Given the description of an element on the screen output the (x, y) to click on. 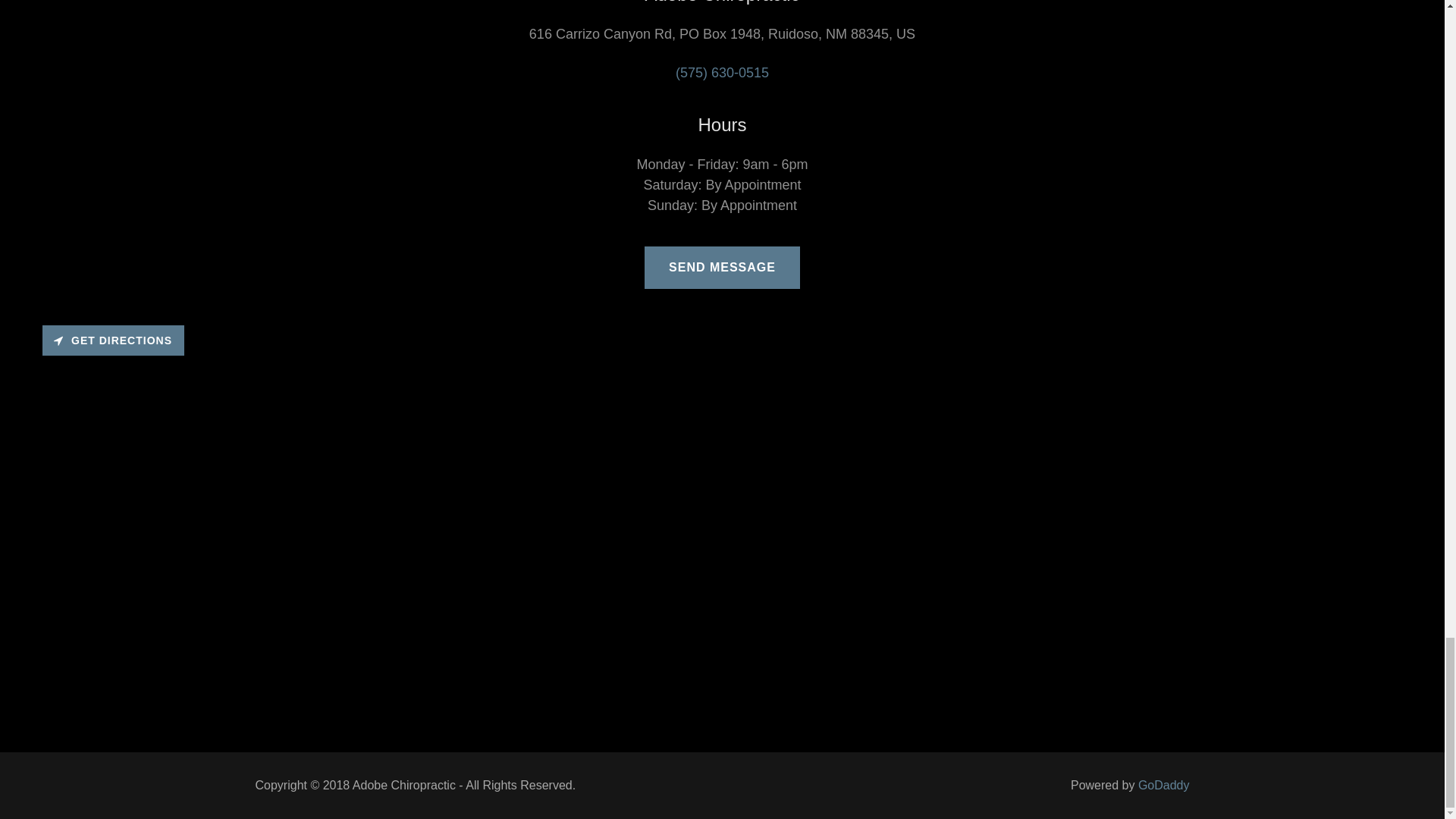
SEND MESSAGE (722, 267)
GoDaddy (1163, 784)
GET DIRECTIONS (113, 340)
